Given the description of an element on the screen output the (x, y) to click on. 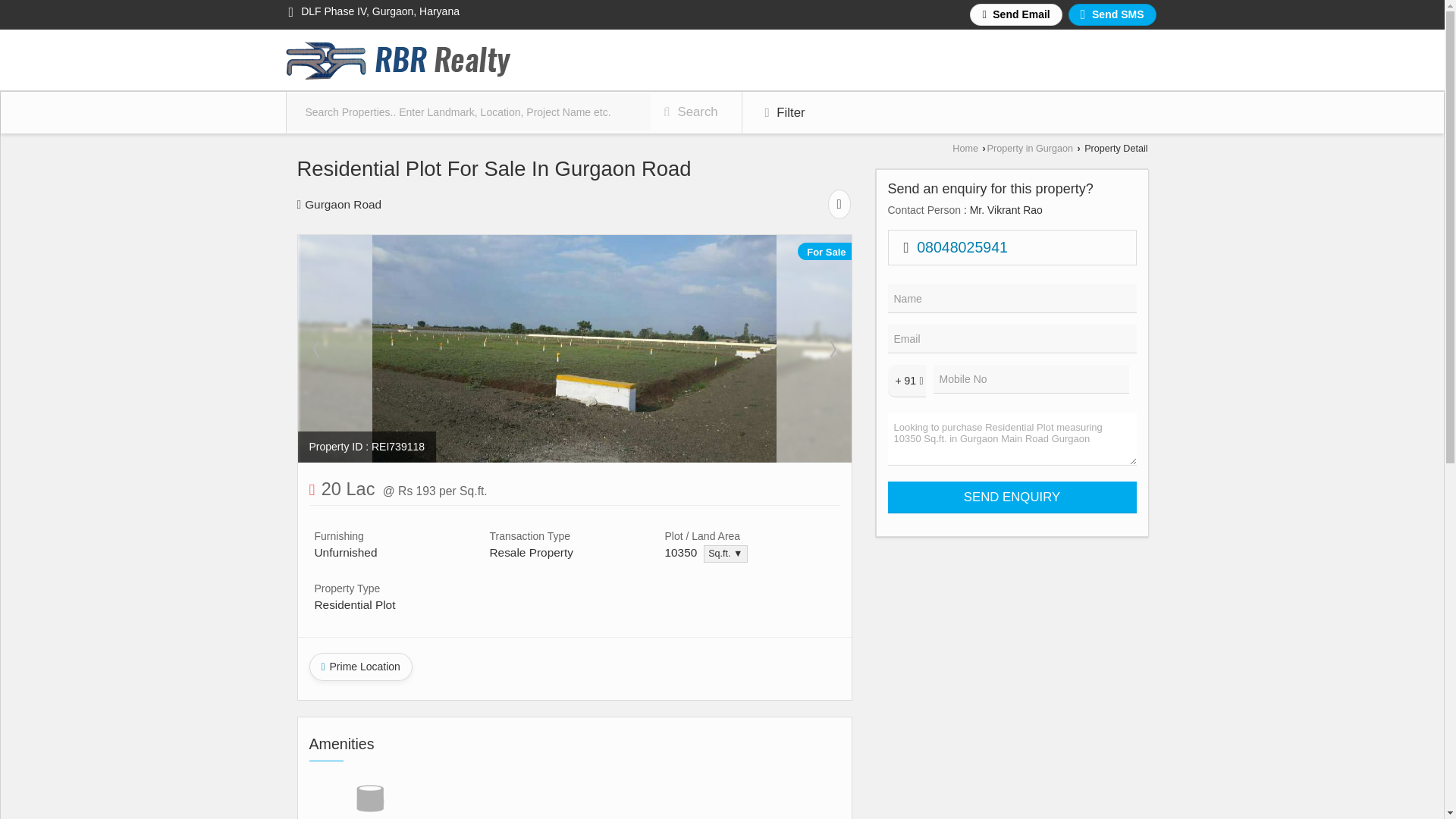
Send Email (1015, 14)
Send SMS (1112, 14)
RBR Realty (399, 59)
RBR Realty (399, 60)
Send Enquiry (1010, 497)
